Given the description of an element on the screen output the (x, y) to click on. 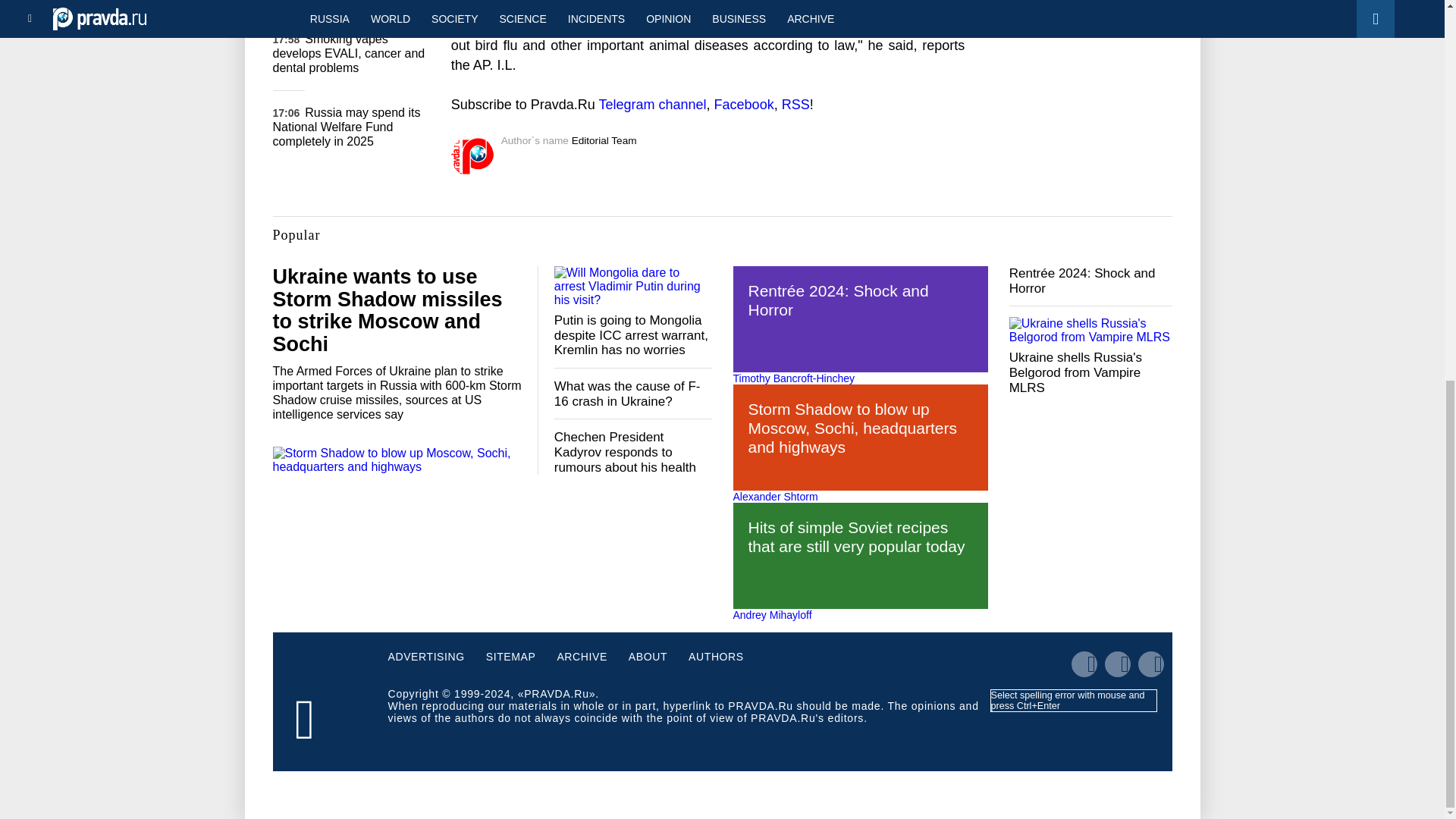
RSS (795, 104)
Telegram channel (652, 104)
Back to top (1418, 189)
Facebook (744, 104)
Smoking vapes develops EVALI, cancer and dental problems (349, 53)
